Given the description of an element on the screen output the (x, y) to click on. 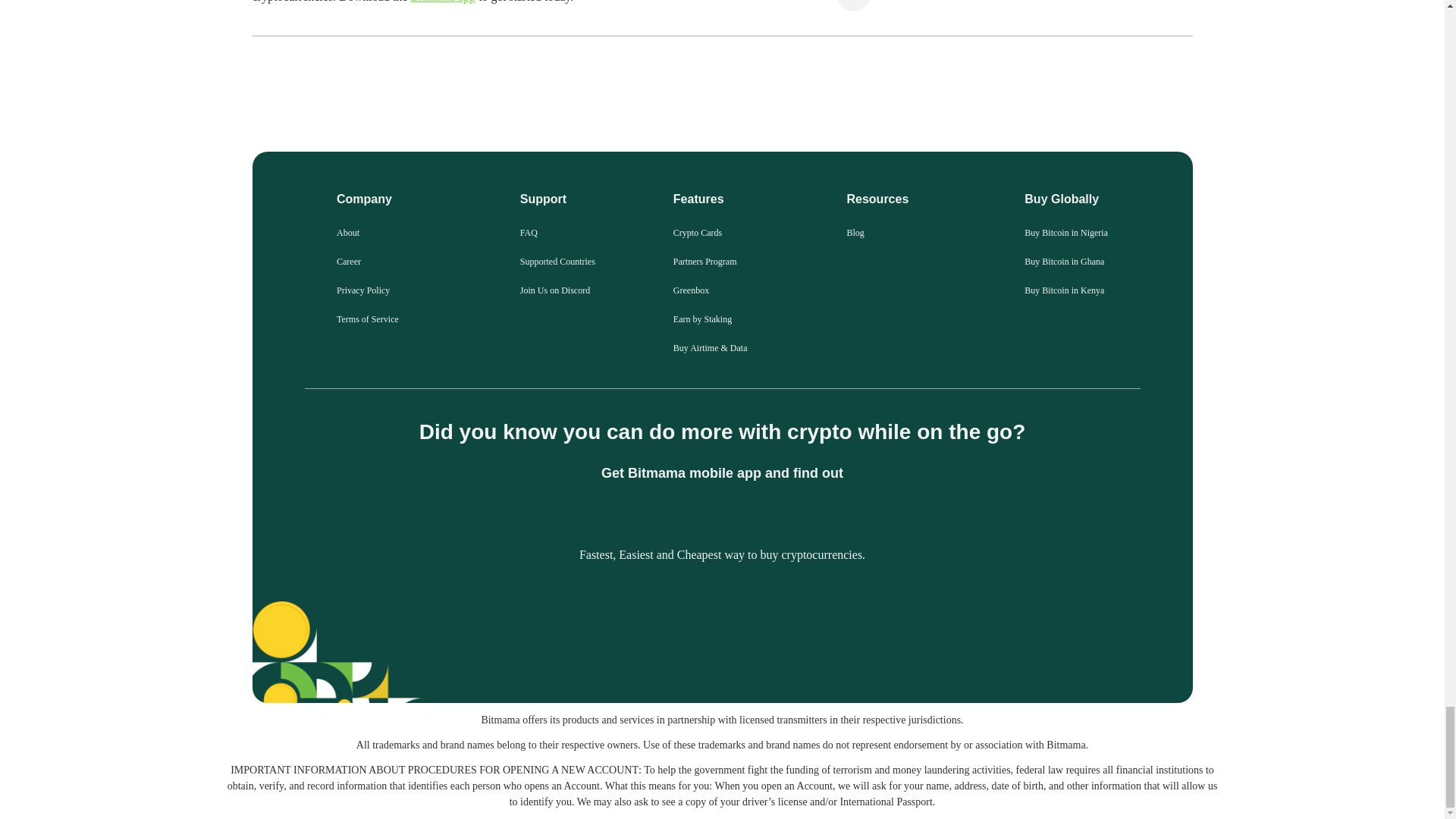
Greenbox (690, 290)
About (347, 232)
Blog (854, 232)
Supported Countries (557, 261)
Privacy Policy (363, 290)
Bitmama app (443, 1)
FAQ (528, 232)
Buy Bitcoin in Kenya (1064, 290)
Buy Bitcoin in Ghana (1064, 261)
Terms of Service (367, 318)
